Given the description of an element on the screen output the (x, y) to click on. 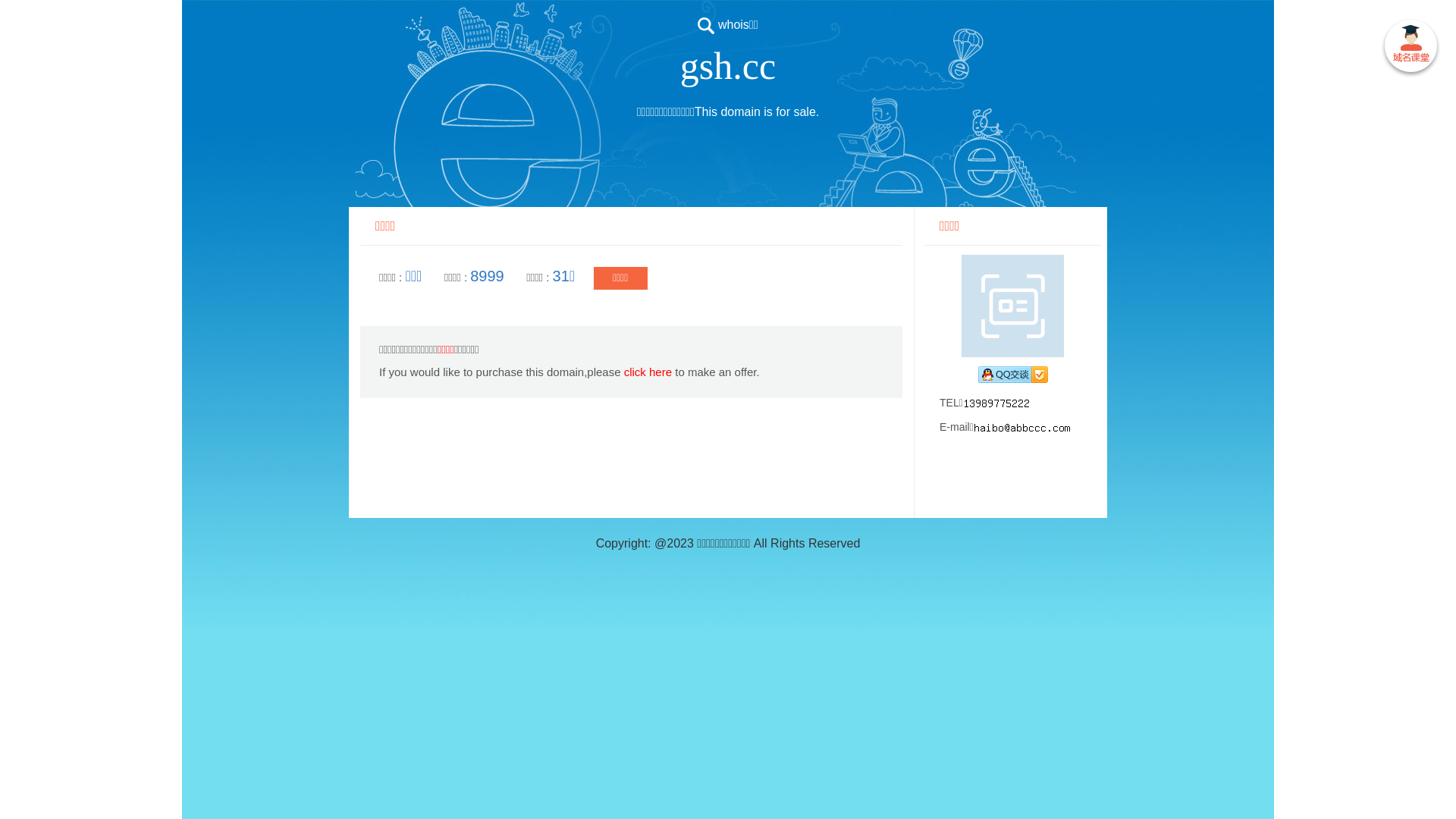
  Element type: text (1410, 48)
click here Element type: text (647, 371)
